Given the description of an element on the screen output the (x, y) to click on. 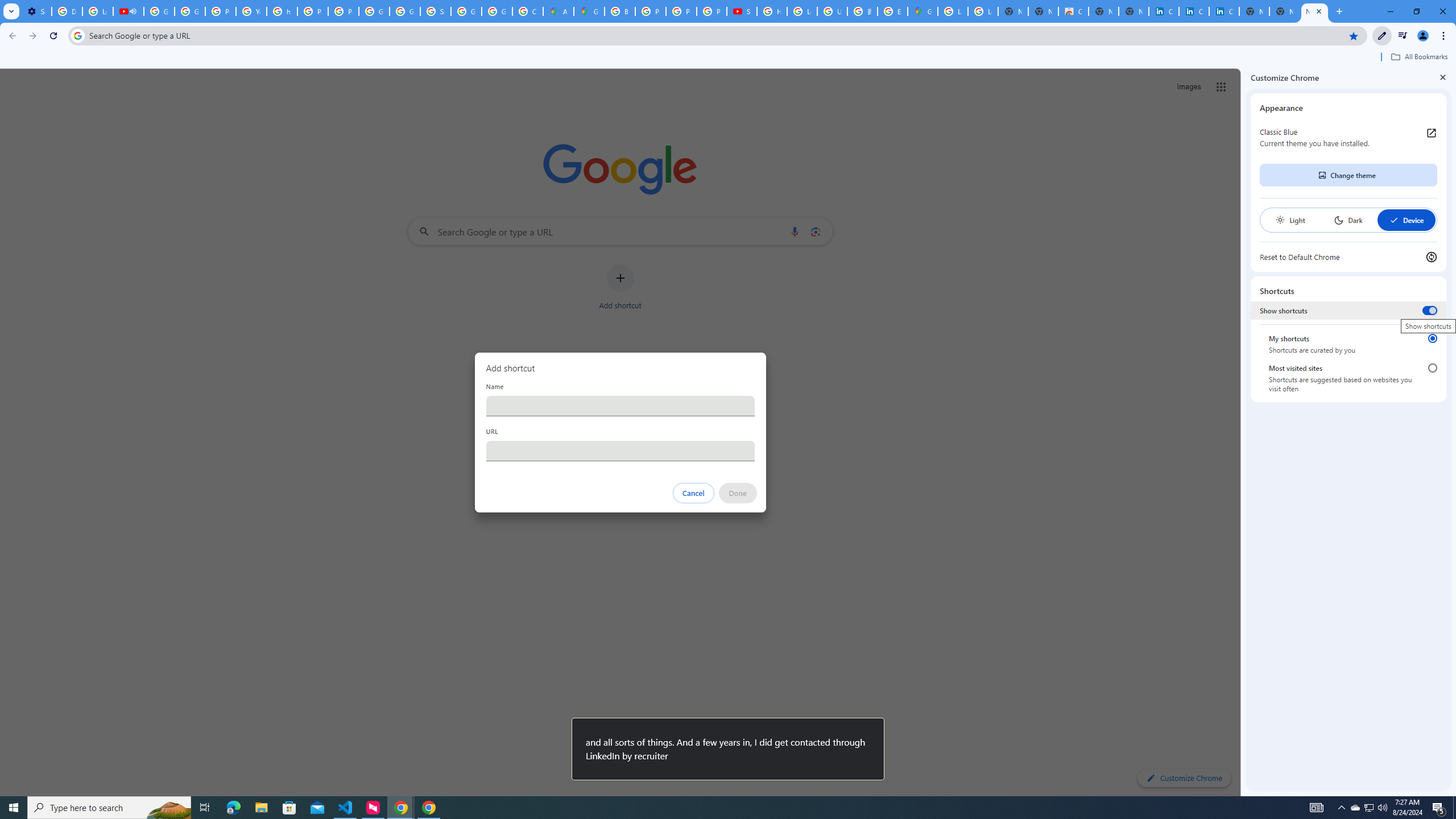
Privacy Help Center - Policies Help (312, 11)
Light (1289, 219)
Most visited sites (1432, 367)
Side Panel Resize Handle (1242, 431)
Cancel (693, 493)
Settings - Customize profile (36, 11)
YouTube (251, 11)
